Given the description of an element on the screen output the (x, y) to click on. 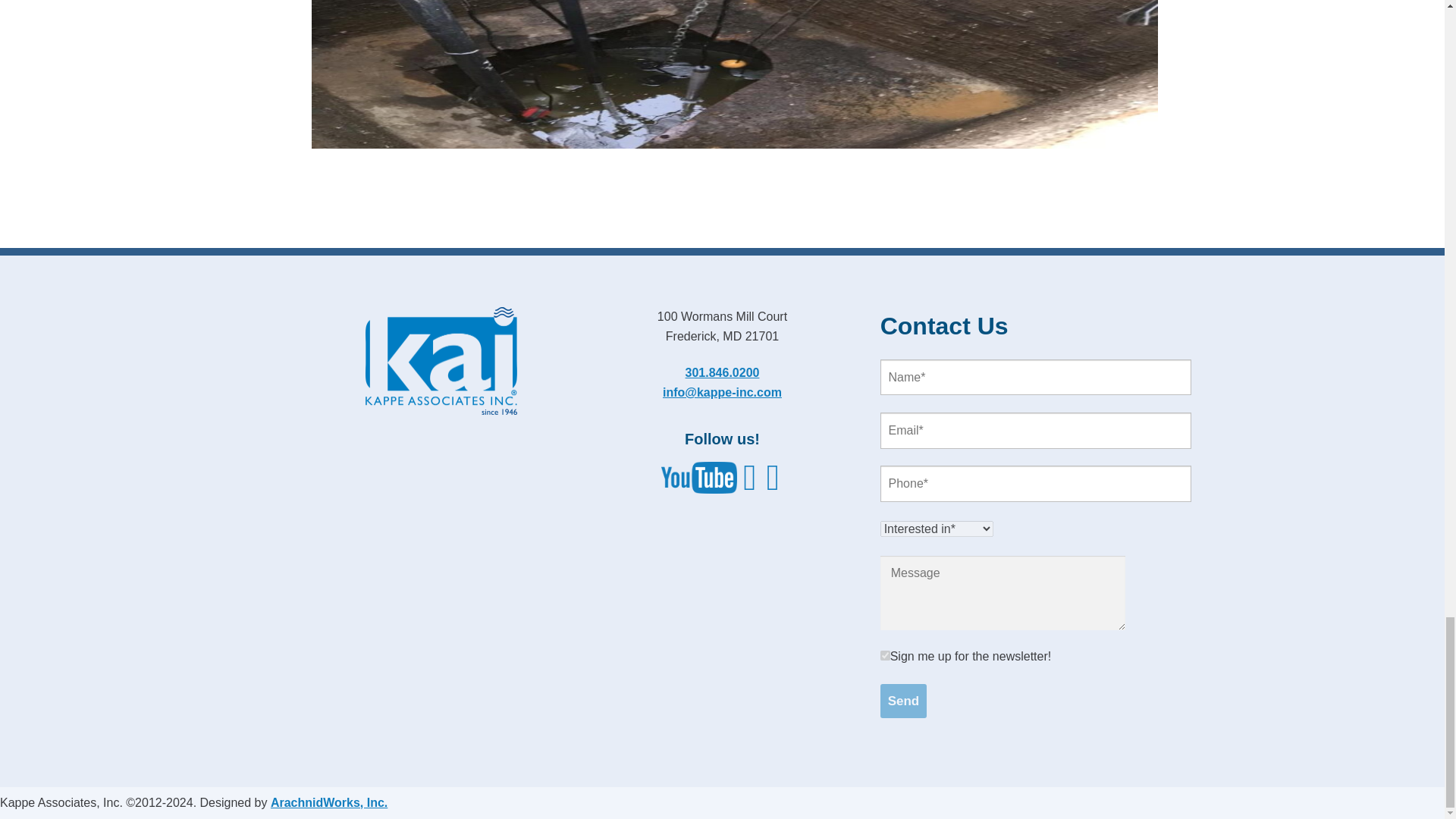
1 (884, 655)
Send (903, 700)
